Given the description of an element on the screen output the (x, y) to click on. 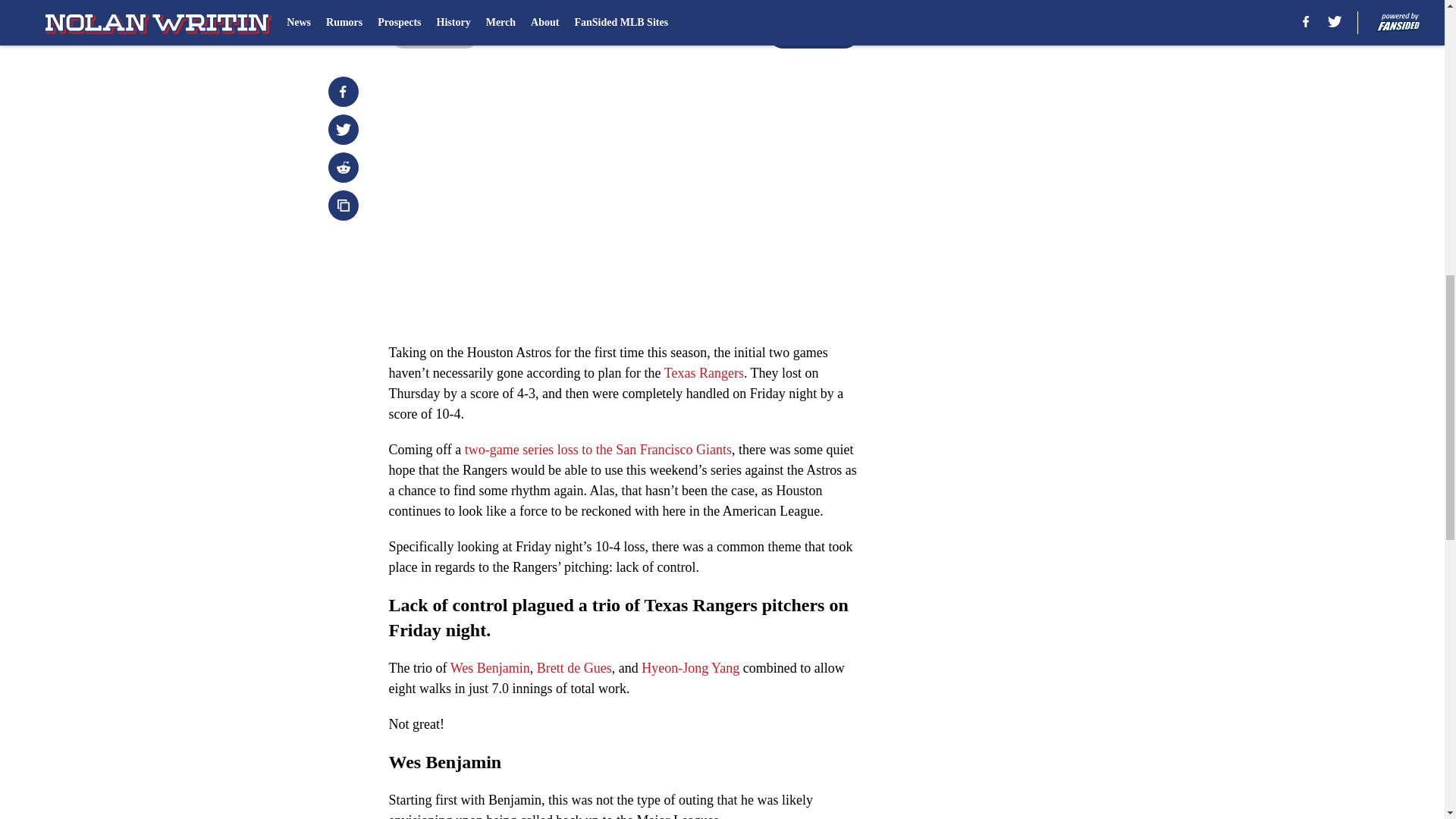
Wes Benjamin (489, 667)
Next (813, 33)
two-game series loss to the San Francisco Giants (598, 449)
Texas Rangers (703, 372)
Prev (433, 33)
Hyeon-Jong Yang (690, 667)
Brett de Gues (574, 667)
